Given the description of an element on the screen output the (x, y) to click on. 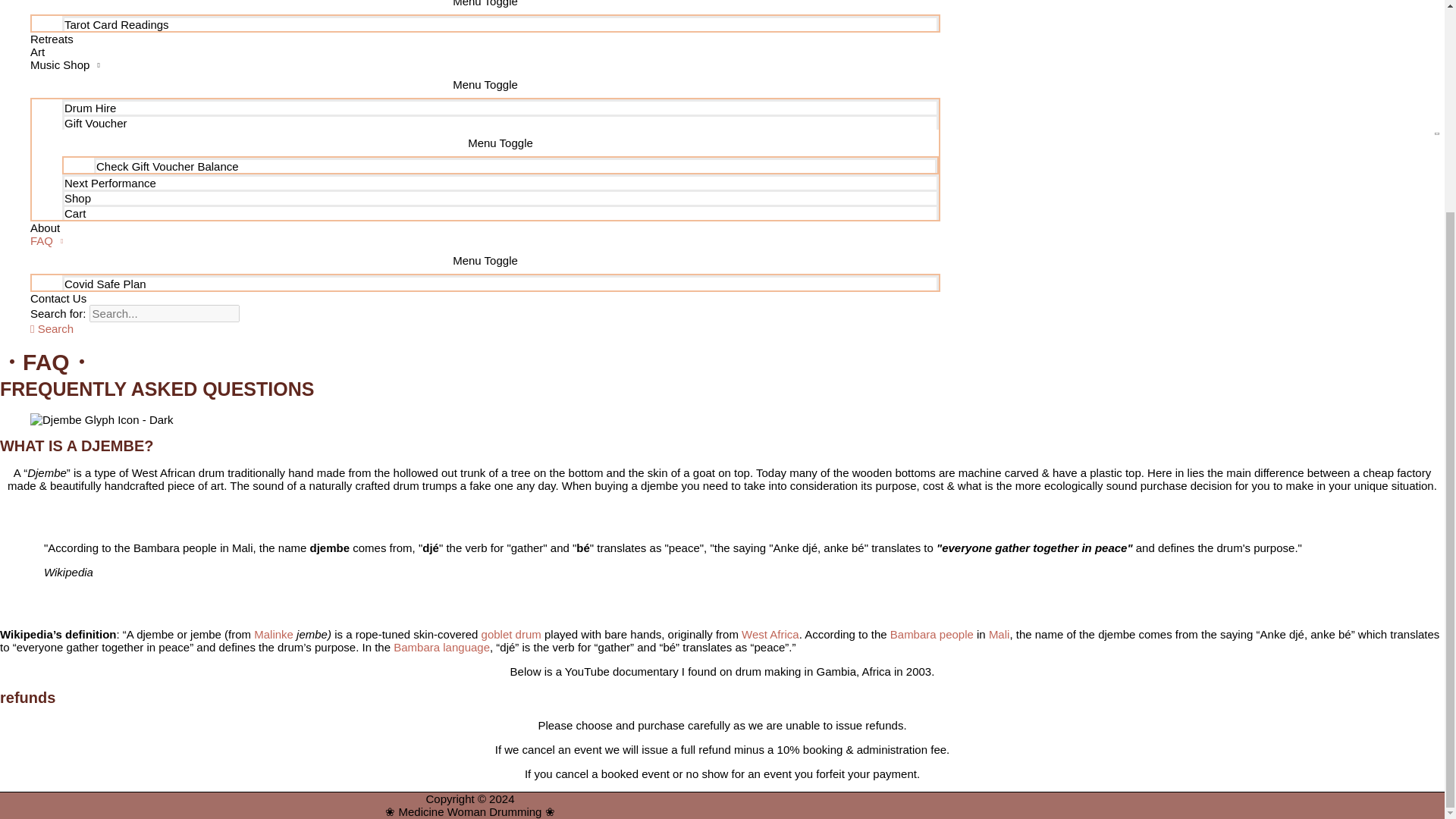
West Africa (770, 634)
Next Performance (500, 181)
Covid Safe Plan (500, 282)
About (485, 227)
Check Gift Voucher Balance (515, 165)
FAQ (485, 240)
Music Shop (485, 64)
Mali (999, 634)
goblet drum (511, 634)
Bambara people (931, 634)
Malinke (273, 634)
Search (52, 328)
Gift Voucher (500, 121)
Contact Us (485, 297)
Tarot Card Readings (500, 23)
